Given the description of an element on the screen output the (x, y) to click on. 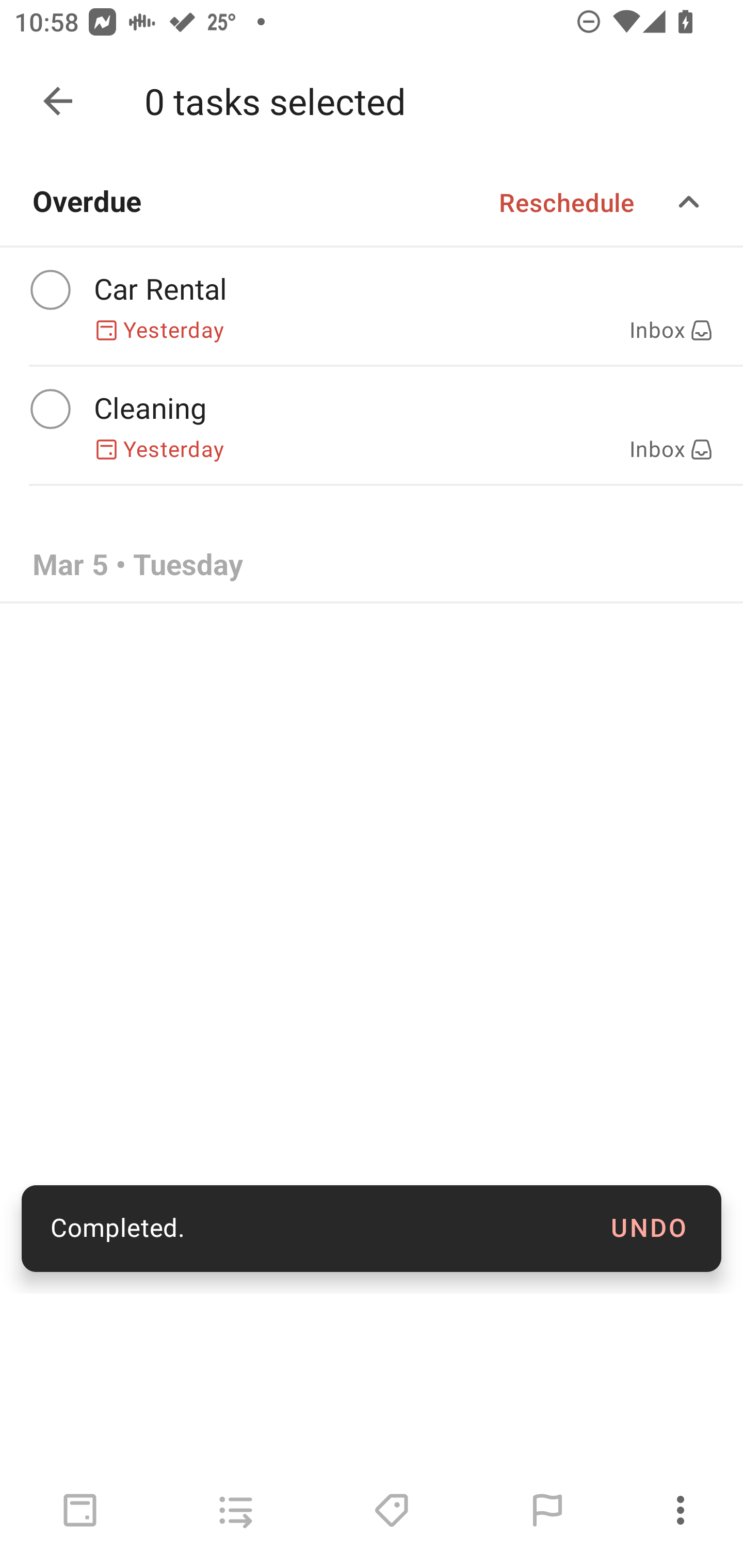
Today More options (371, 100)
Done (57, 100)
Overdue Reschedule Expand/collapse (371, 202)
Reschedule (566, 202)
Complete Car Rental Yesterday Inbox (371, 306)
Complete (50, 289)
Complete Cleaning Yesterday Inbox (371, 425)
Complete (50, 409)
Mar 5 • Tuesday (371, 565)
UNDO (648, 1228)
Schedule (80, 1510)
Move (235, 1510)
Labels (391, 1510)
Set priority (547, 1510)
More options (683, 1510)
